Given the description of an element on the screen output the (x, y) to click on. 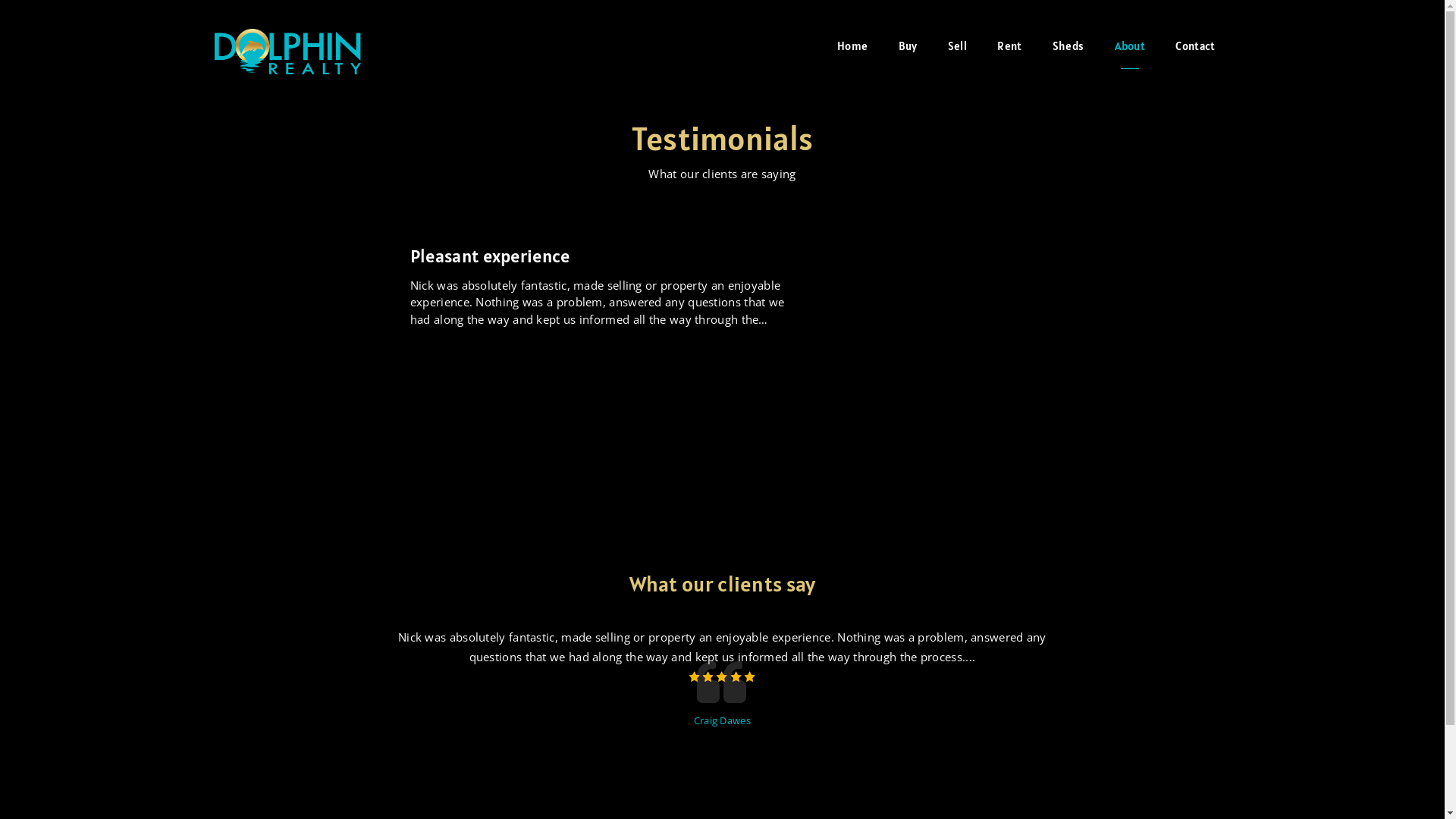
Sell Element type: text (957, 45)
Home Element type: text (852, 45)
Buy Element type: text (907, 45)
Rent Element type: text (1009, 45)
Dolphin Realty Element type: hover (286, 46)
About Element type: text (1130, 45)
Sheds Element type: text (1068, 45)
Contact Element type: text (1195, 45)
Craig Dawes Element type: text (721, 719)
